Given the description of an element on the screen output the (x, y) to click on. 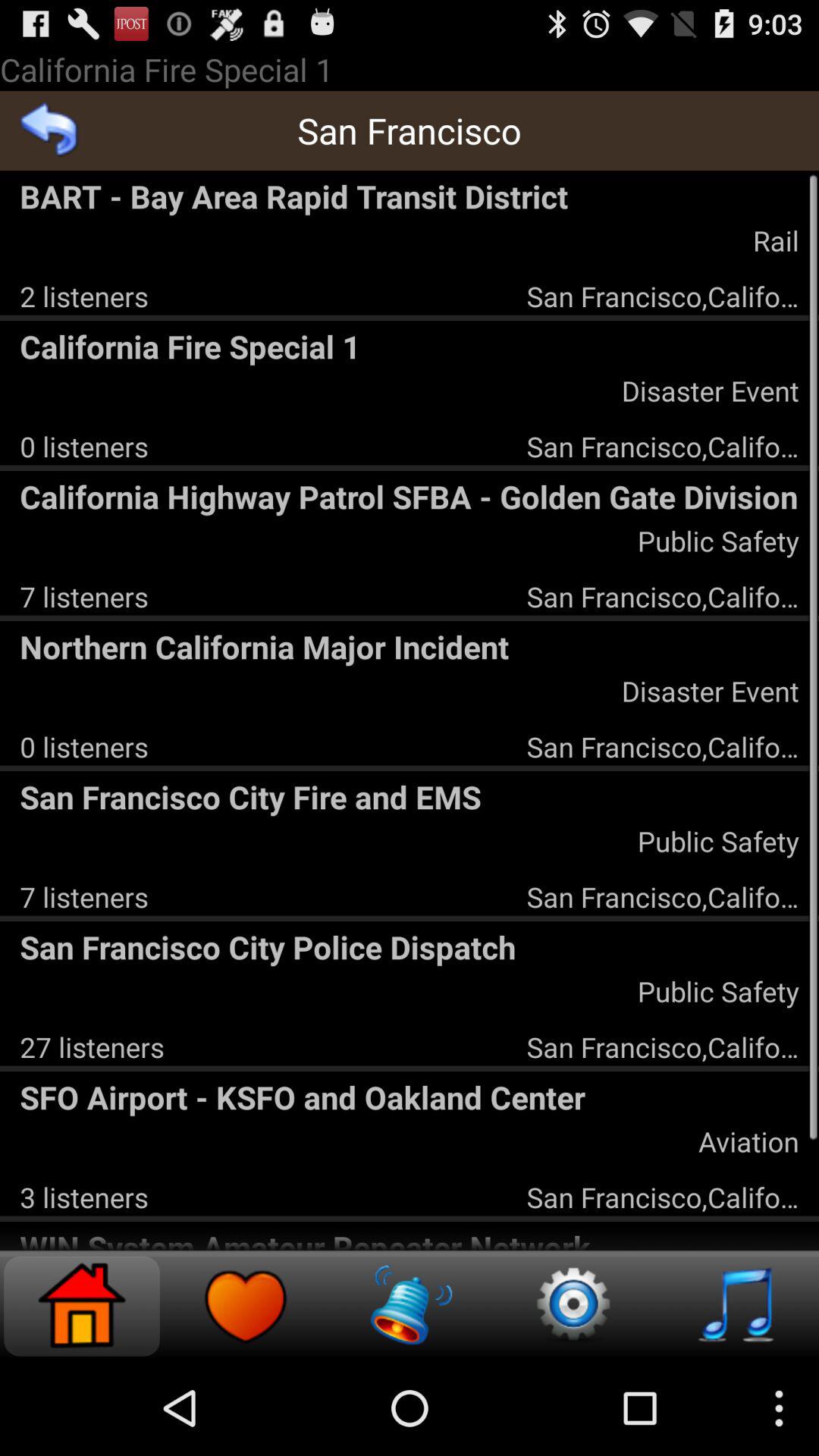
flip to 3 listeners app (83, 1196)
